Given the description of an element on the screen output the (x, y) to click on. 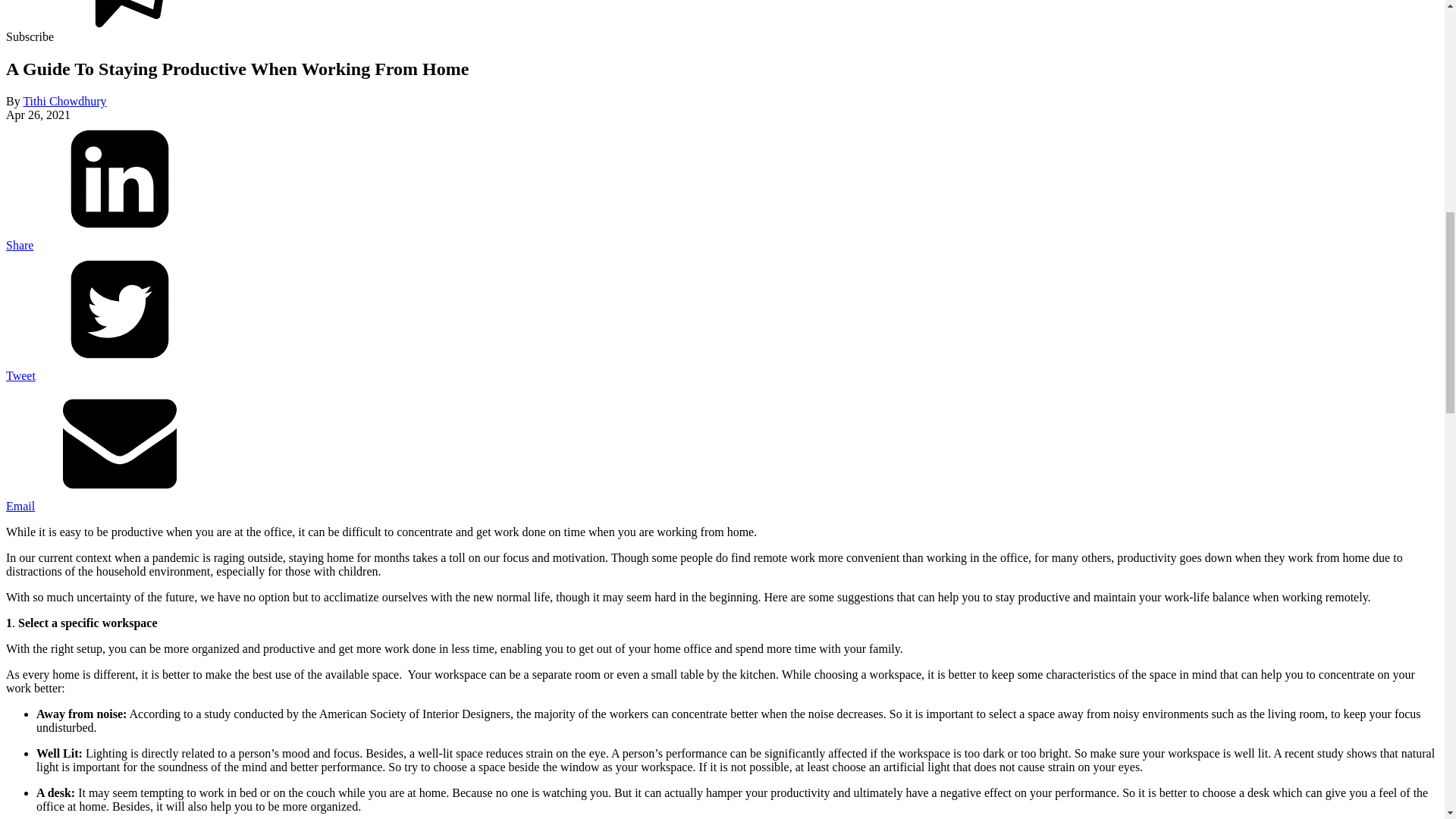
Tithi Chowdhury (64, 101)
